Given the description of an element on the screen output the (x, y) to click on. 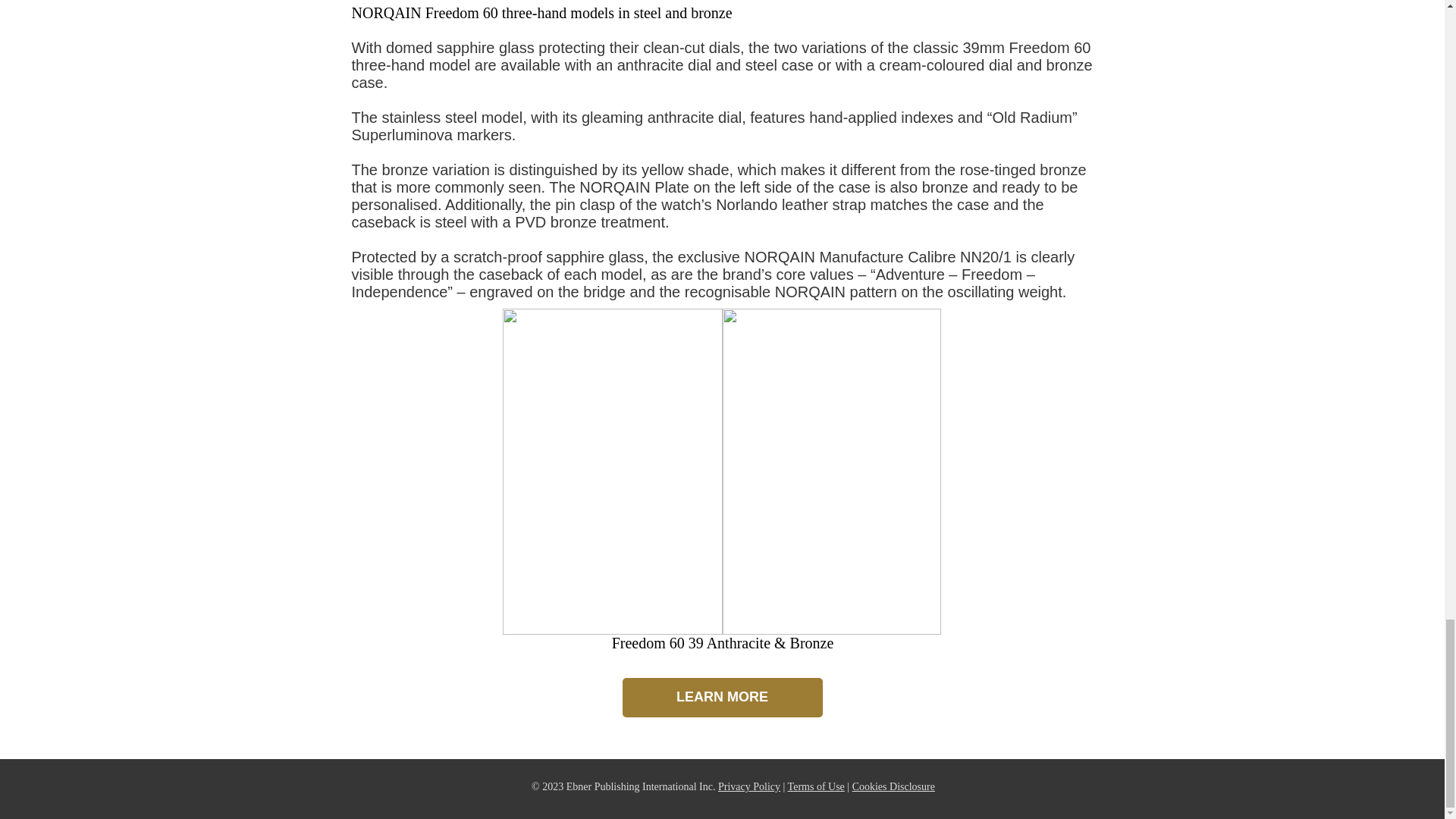
Terms of Use (815, 786)
Cookies Disclosure (892, 786)
Privacy Policy (748, 786)
LEARN MORE (721, 697)
